Given the description of an element on the screen output the (x, y) to click on. 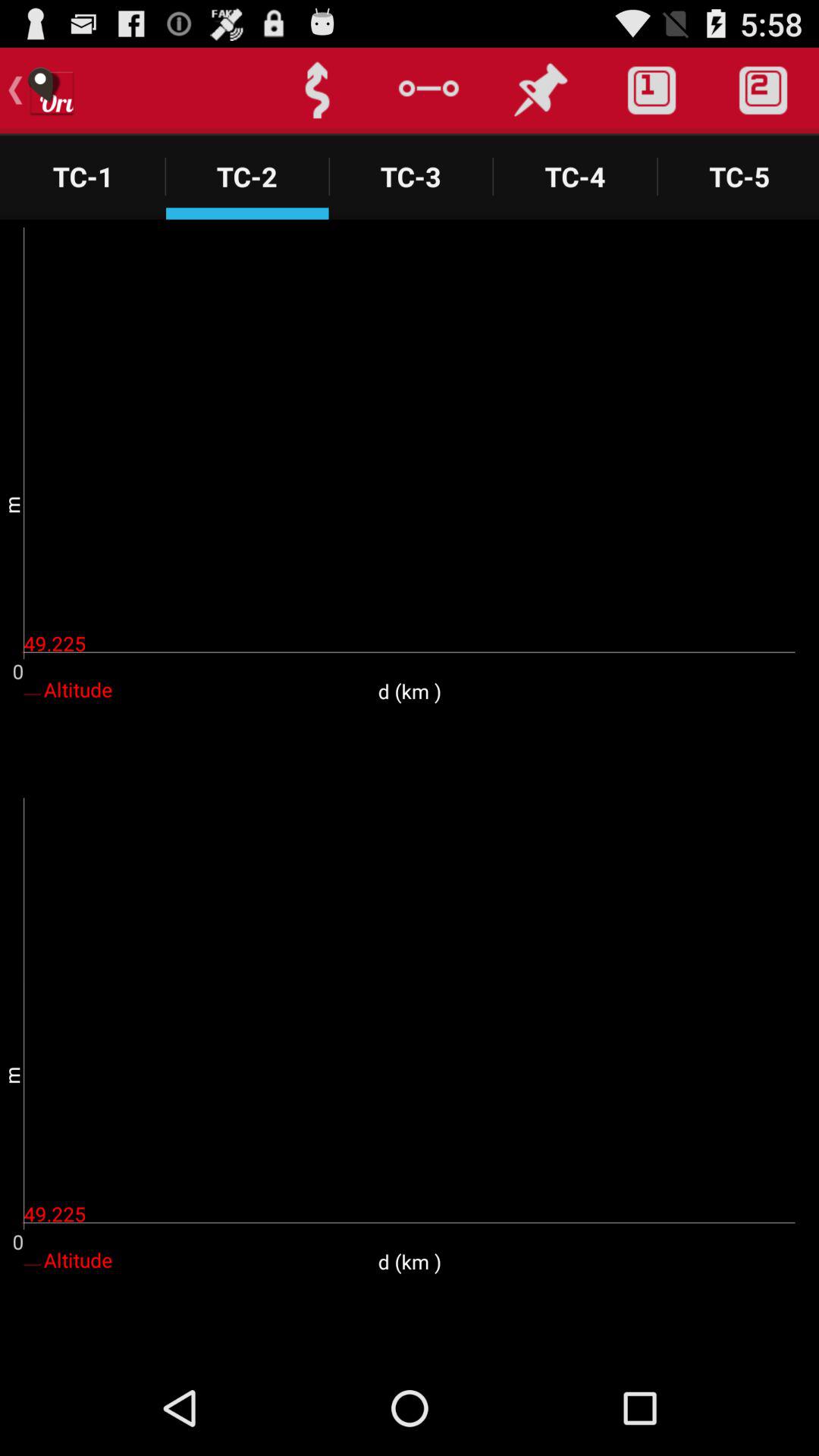
open the item above tc-5 icon (763, 90)
